Given the description of an element on the screen output the (x, y) to click on. 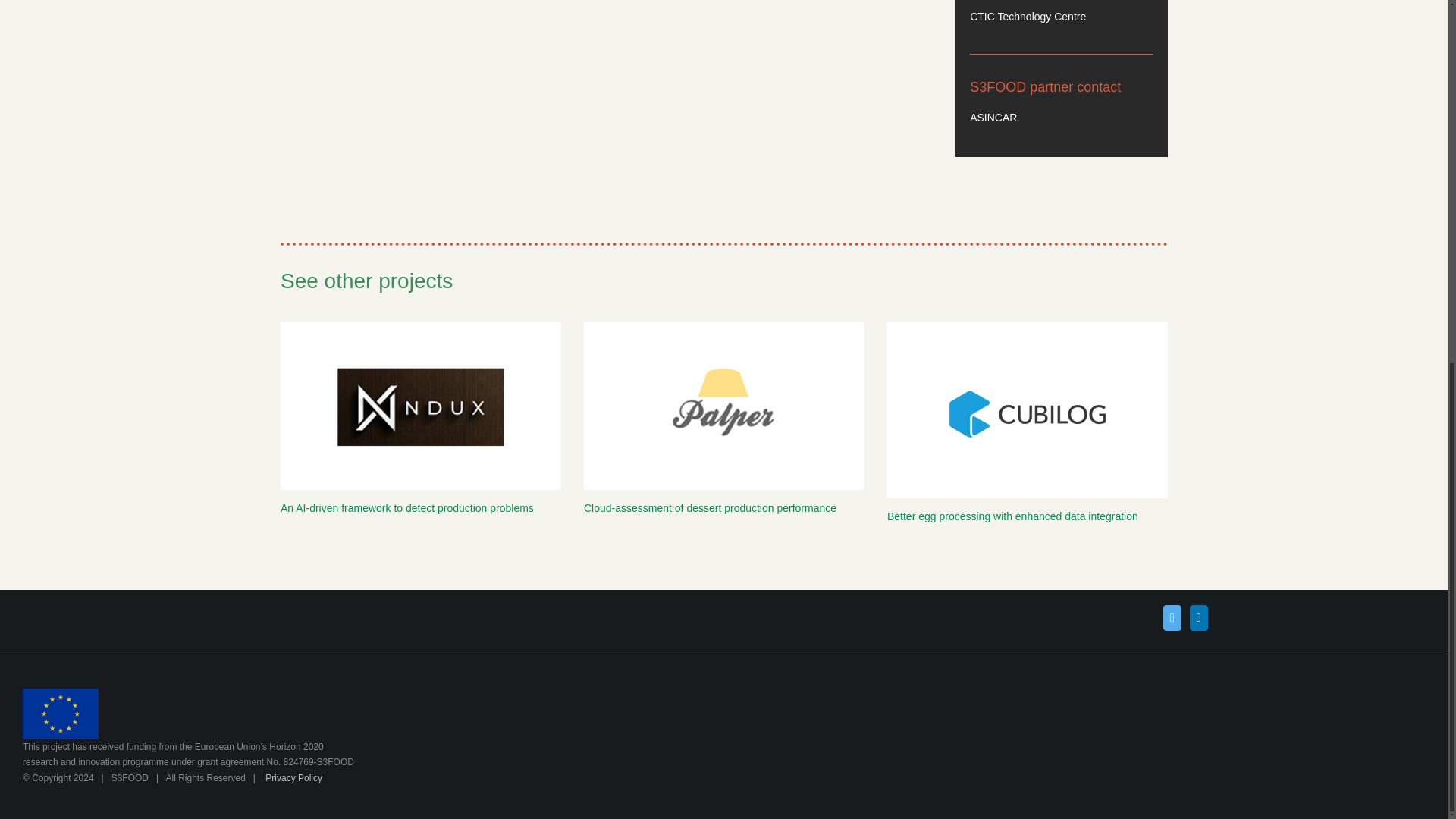
Cloud-assessment of dessert production performance (709, 508)
An AI-driven framework to detect production problems (407, 508)
Privacy Policy (292, 777)
CTIC Technology Centre (1027, 16)
ASINCAR (992, 117)
Better egg processing with enhanced data integration (1012, 516)
